Given the description of an element on the screen output the (x, y) to click on. 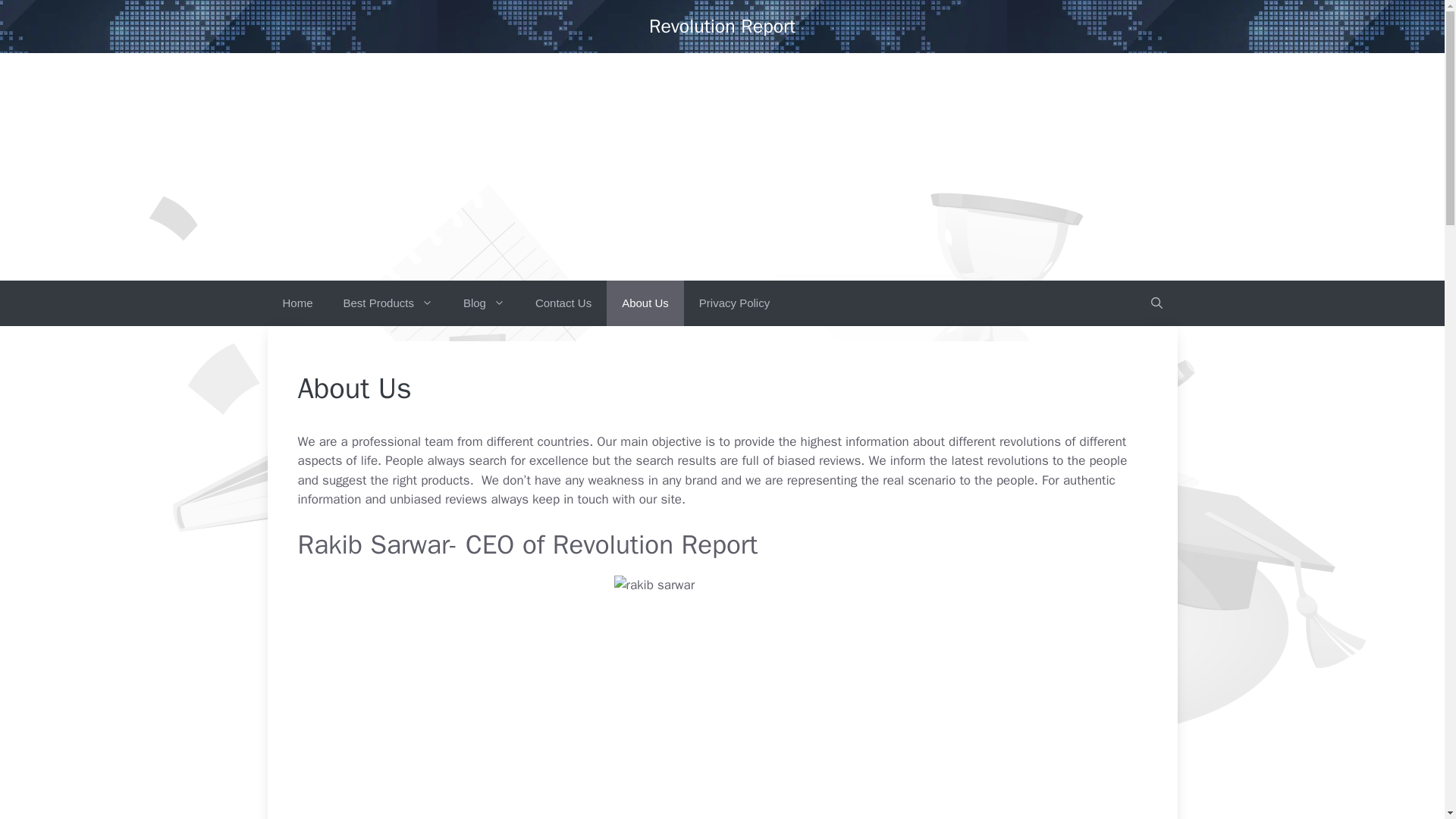
Blog (483, 302)
Best Products (388, 302)
About Us (645, 302)
Revolution Report (721, 25)
Privacy Policy (734, 302)
Contact Us (563, 302)
Home (296, 302)
